Given the description of an element on the screen output the (x, y) to click on. 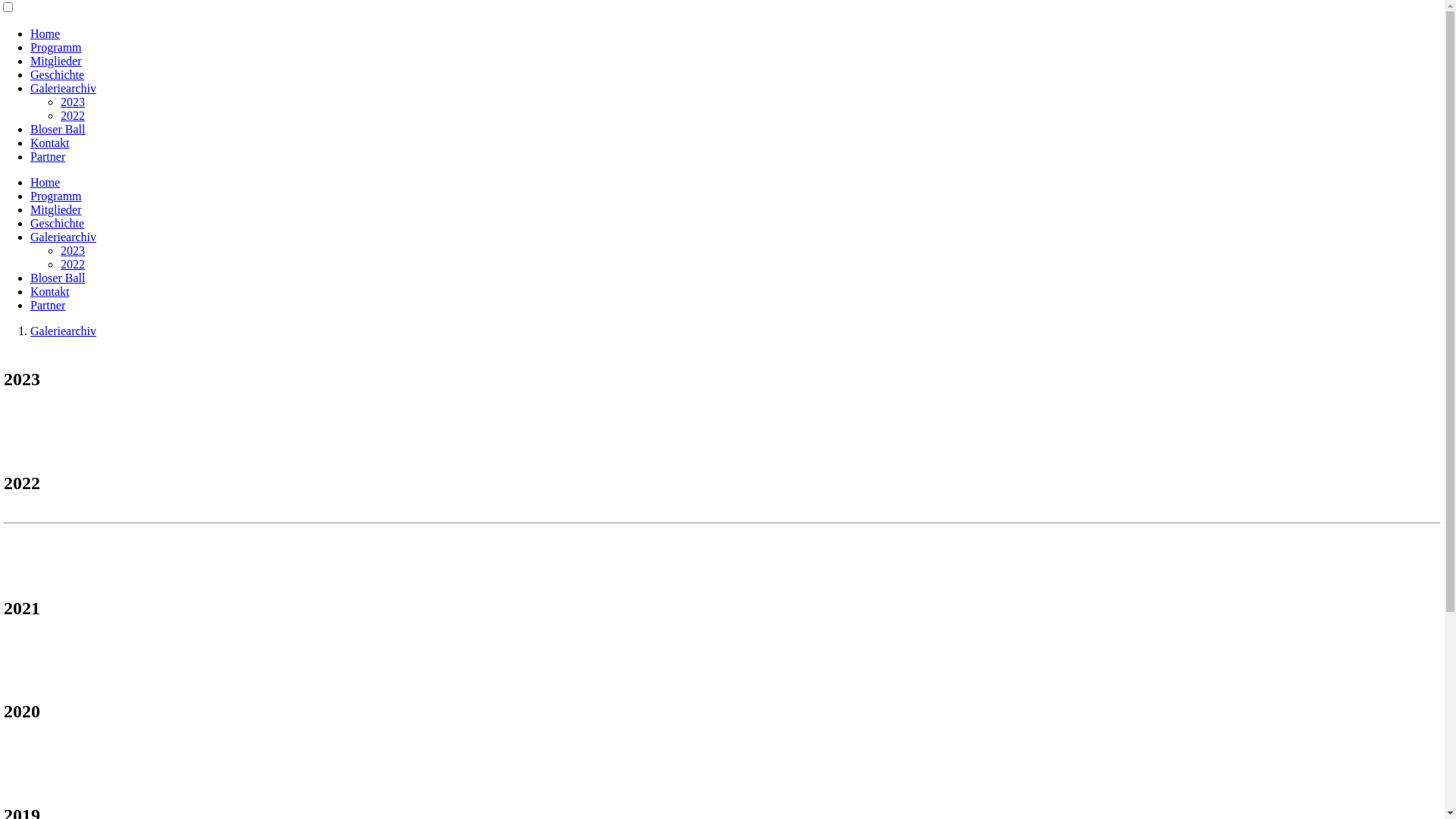
Programm Element type: text (55, 195)
Home Element type: text (44, 33)
Kontakt Element type: text (49, 291)
Galeriearchiv Element type: text (63, 236)
Galeriearchiv Element type: text (63, 87)
Programm Element type: text (55, 46)
Geschichte Element type: text (57, 222)
Kontakt Element type: text (49, 142)
Bloser Ball Element type: text (57, 277)
2023 Element type: text (72, 250)
Partner Element type: text (47, 304)
Partner Element type: text (47, 156)
Mitglieder Element type: text (55, 60)
2022 Element type: text (72, 115)
Home Element type: text (44, 181)
2022 Element type: text (72, 263)
Geschichte Element type: text (57, 74)
2023 Element type: text (72, 101)
Galeriearchiv Element type: text (63, 330)
Bloser Ball Element type: text (57, 128)
Mitglieder Element type: text (55, 209)
